Given the description of an element on the screen output the (x, y) to click on. 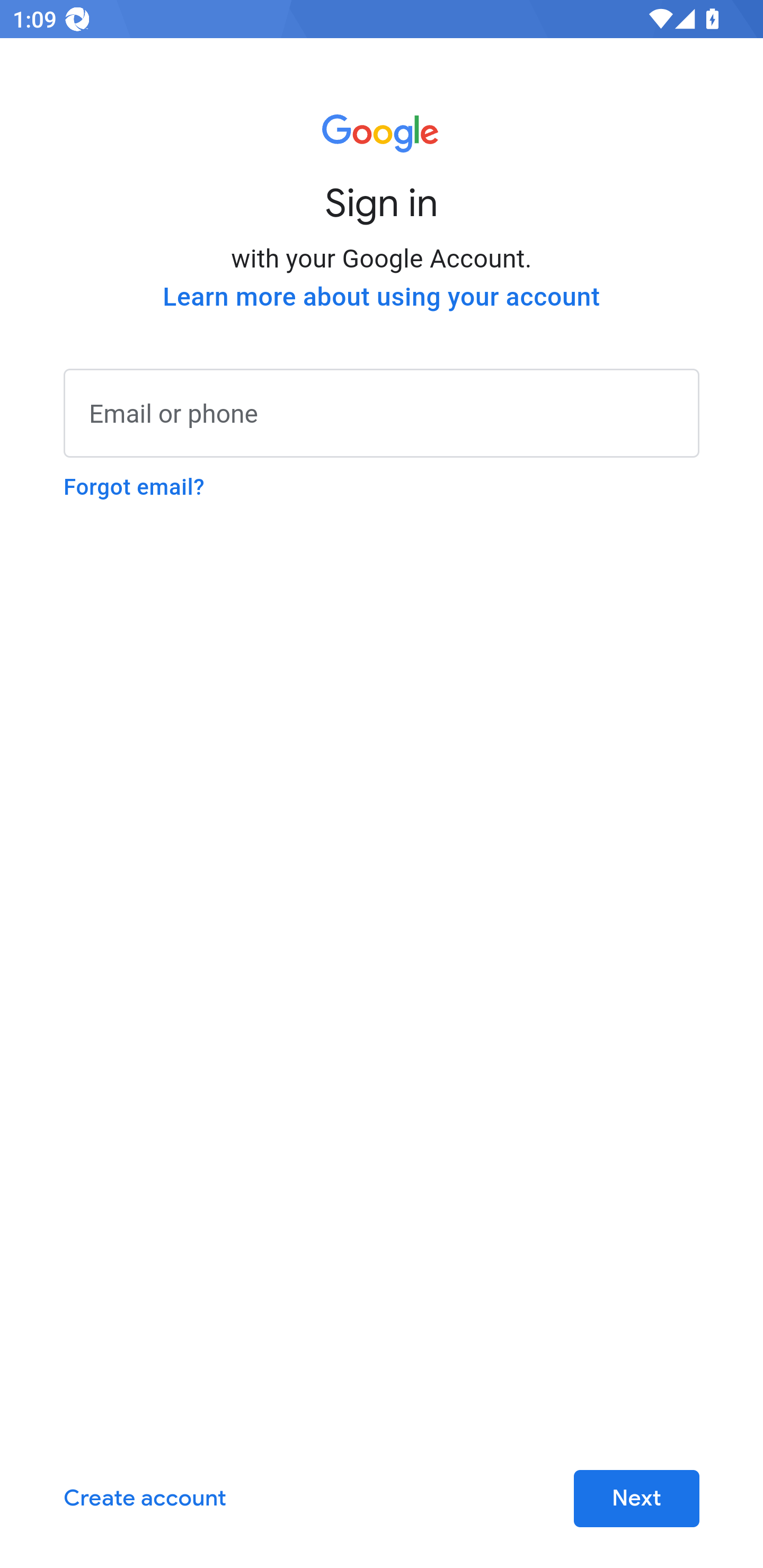
Learn more about using your account (381, 296)
Forgot email? (133, 486)
Create account (145, 1498)
Next (635, 1498)
